Given the description of an element on the screen output the (x, y) to click on. 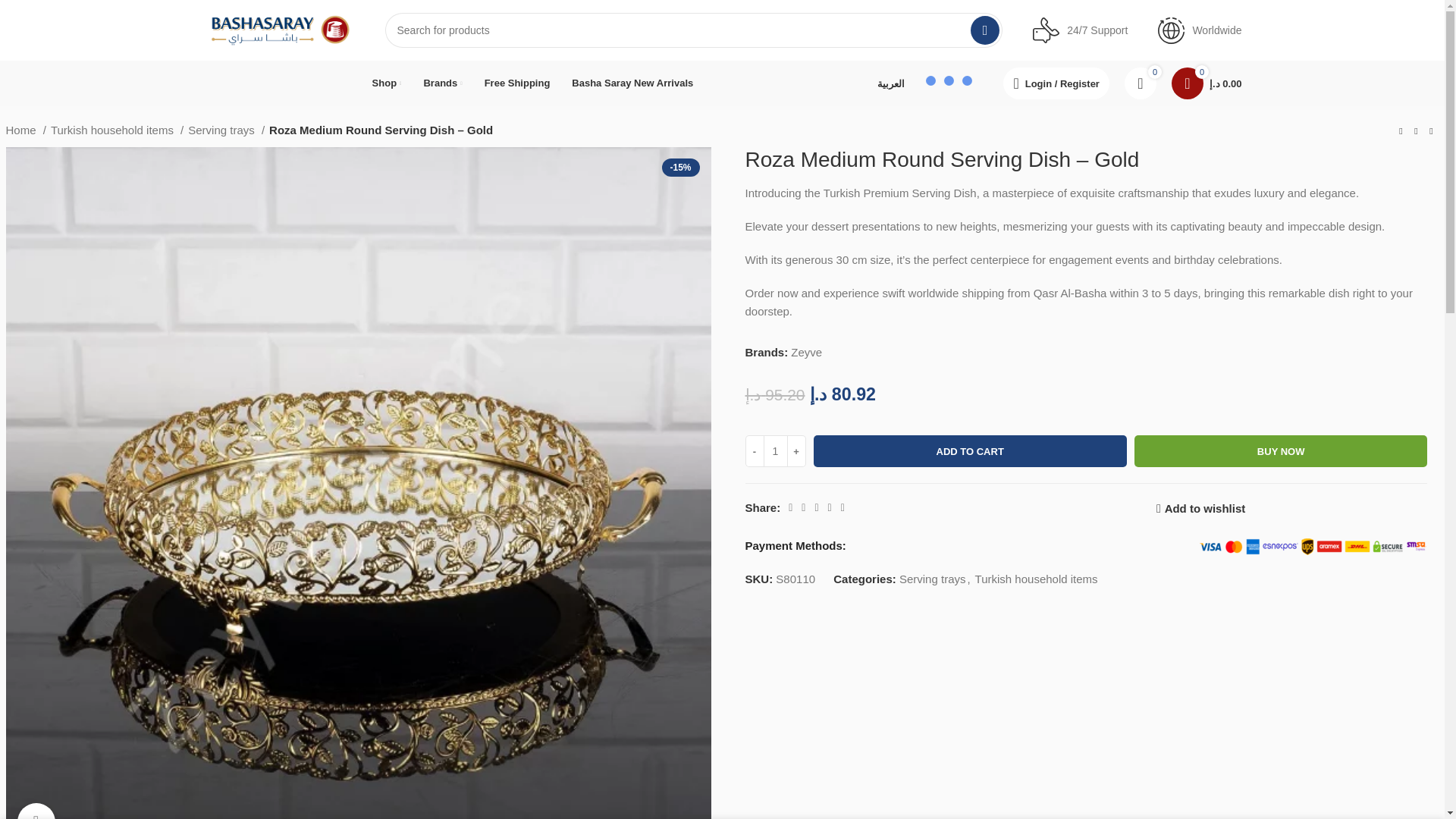
My account (1055, 82)
Search for products (694, 30)
SEARCH (984, 30)
support (1045, 29)
Shop (386, 82)
worldwide (1171, 29)
My Wishlist (1139, 82)
Shopping cart (1206, 82)
